Given the description of an element on the screen output the (x, y) to click on. 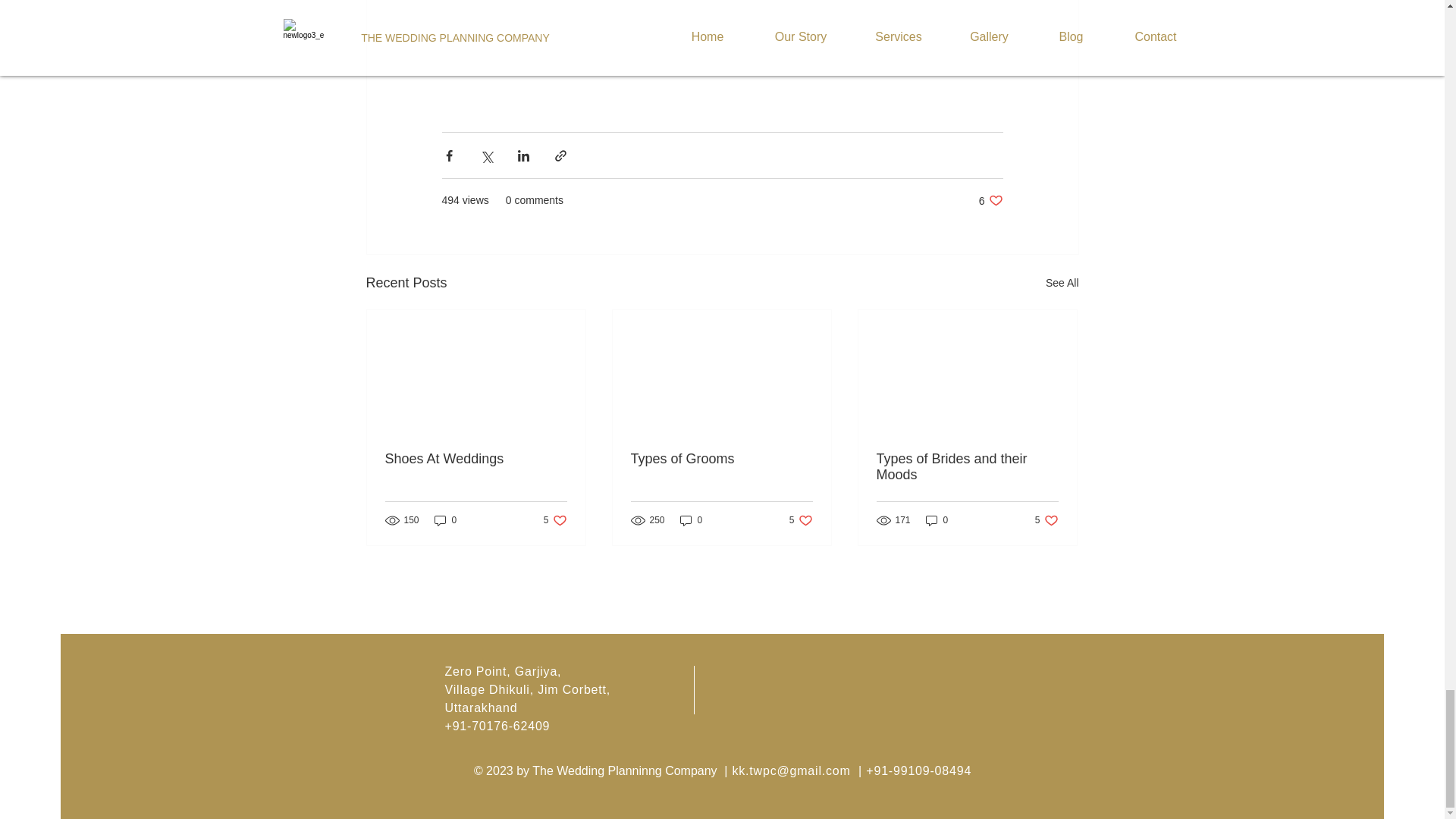
0 (800, 520)
0 (1046, 520)
Types of Grooms (990, 200)
0 (937, 520)
Types of Brides and their Moods (555, 520)
Shoes At Weddings (445, 520)
